Given the description of an element on the screen output the (x, y) to click on. 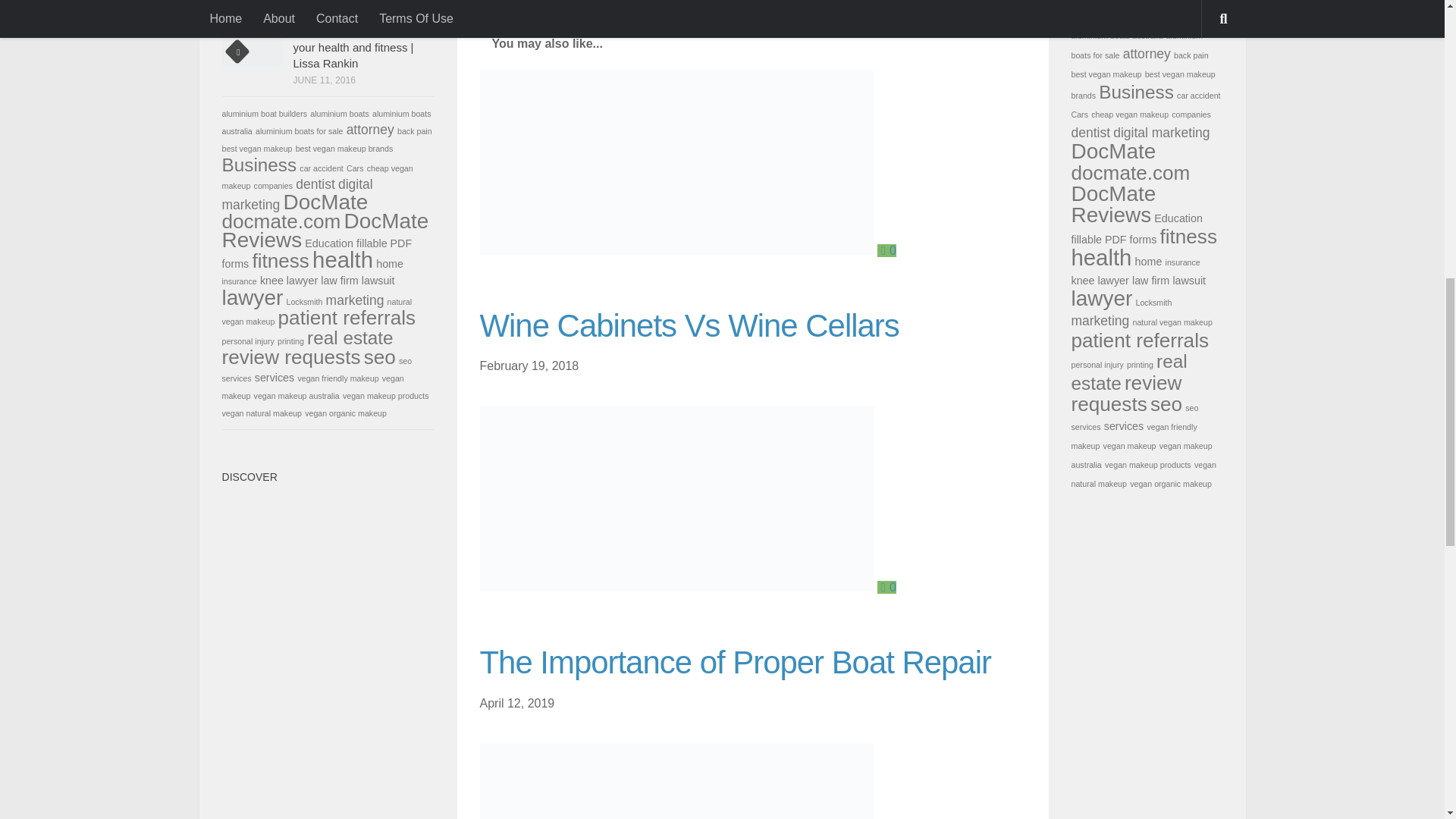
0 (886, 586)
plastic table skirts (559, 8)
table skirts (636, 8)
0 (886, 250)
Wine Cabinets Vs Wine Cellars (688, 325)
